Given the description of an element on the screen output the (x, y) to click on. 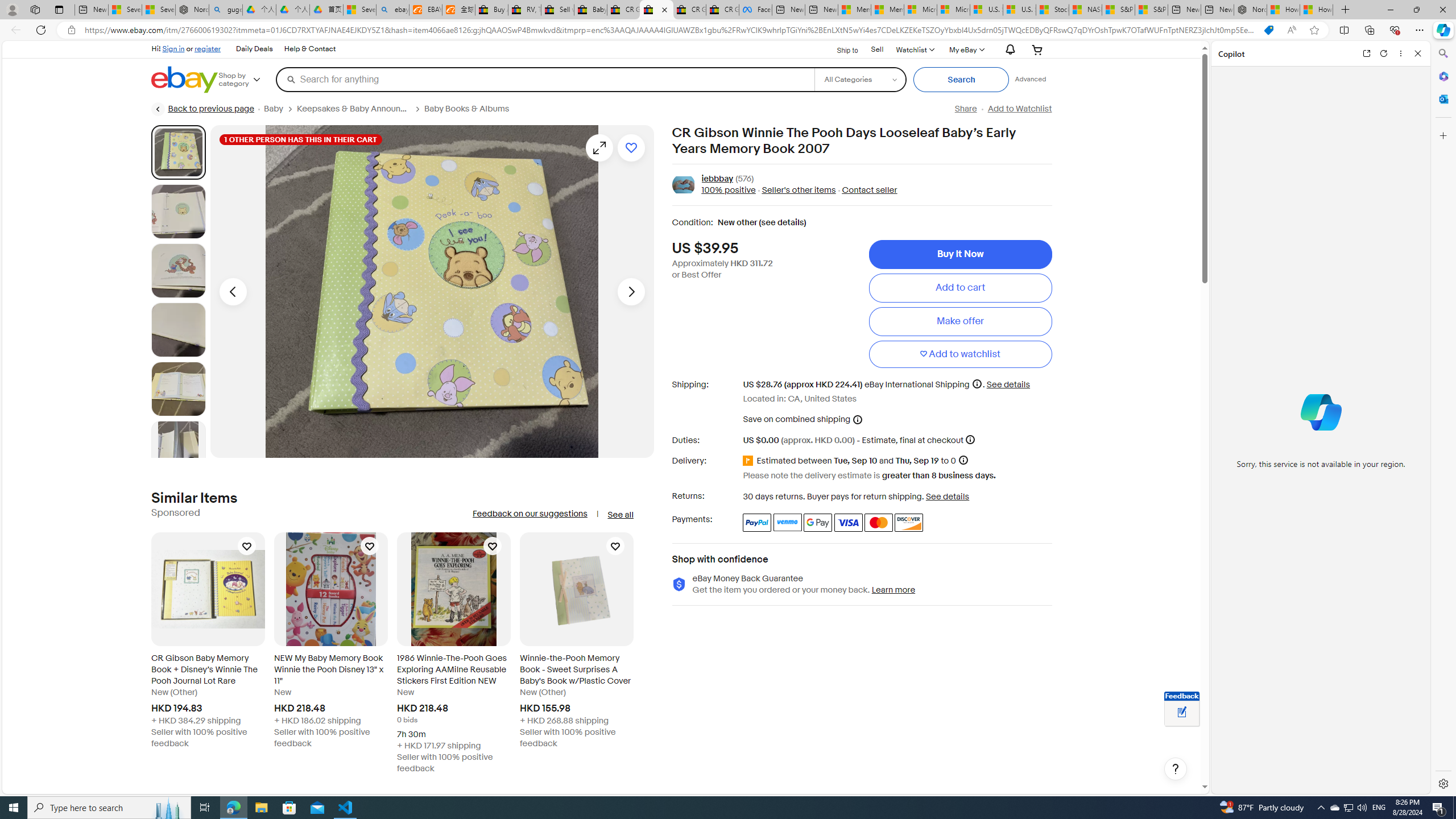
eBay Home (184, 79)
Outlook (1442, 98)
Baby Books & Albums (470, 108)
100% positive (728, 190)
guge yunpan - Search (225, 9)
iebbbay (717, 179)
  Seller's other items (795, 190)
Buy It Now (959, 253)
Picture 4 of 22 (178, 329)
You have the best price! (1268, 29)
